Given the description of an element on the screen output the (x, y) to click on. 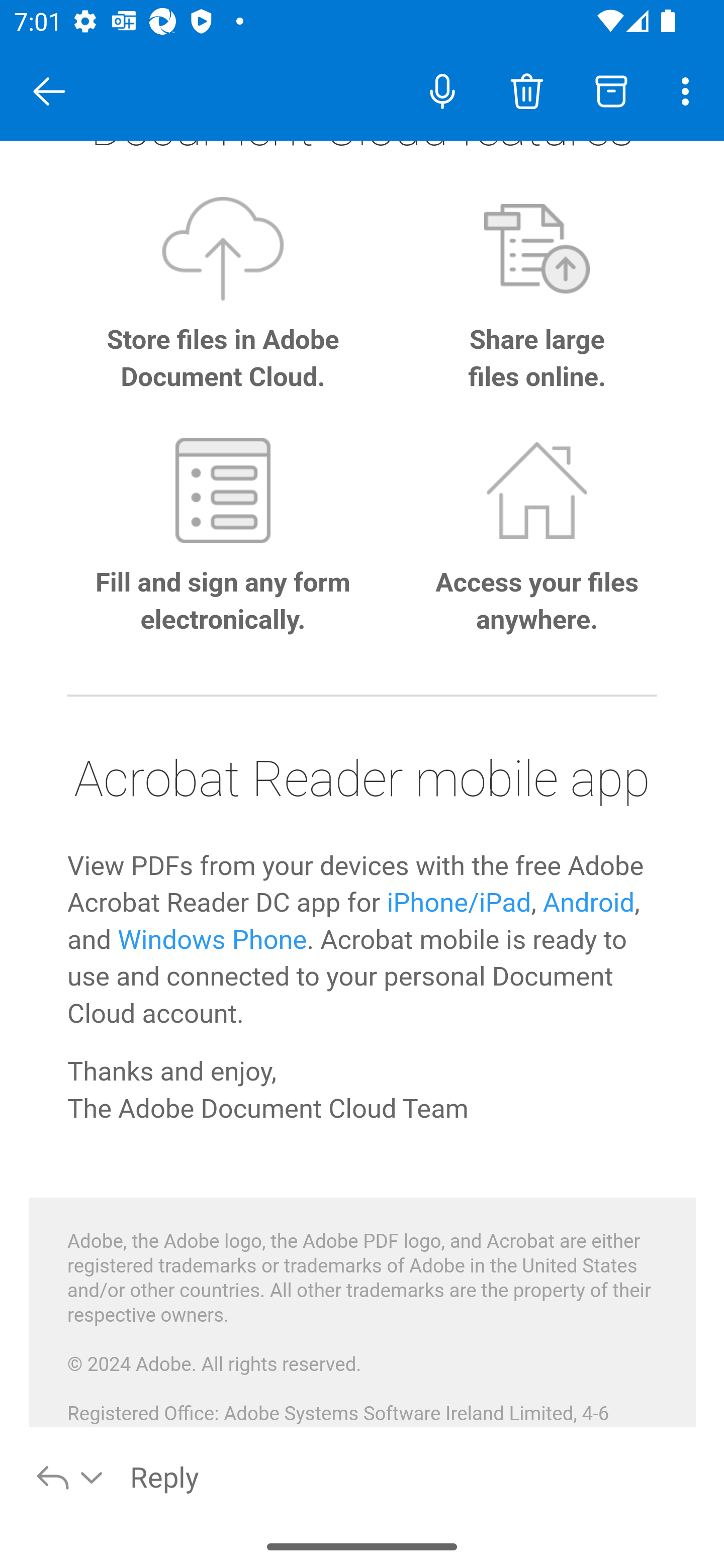
Close (49, 91)
Delete (526, 90)
Archive (611, 90)
More options (688, 90)
iPhone/iPad (458, 904)
Android (588, 904)
Windows Phone (212, 940)
Reply options (70, 1475)
Reply (416, 1475)
